Given the description of an element on the screen output the (x, y) to click on. 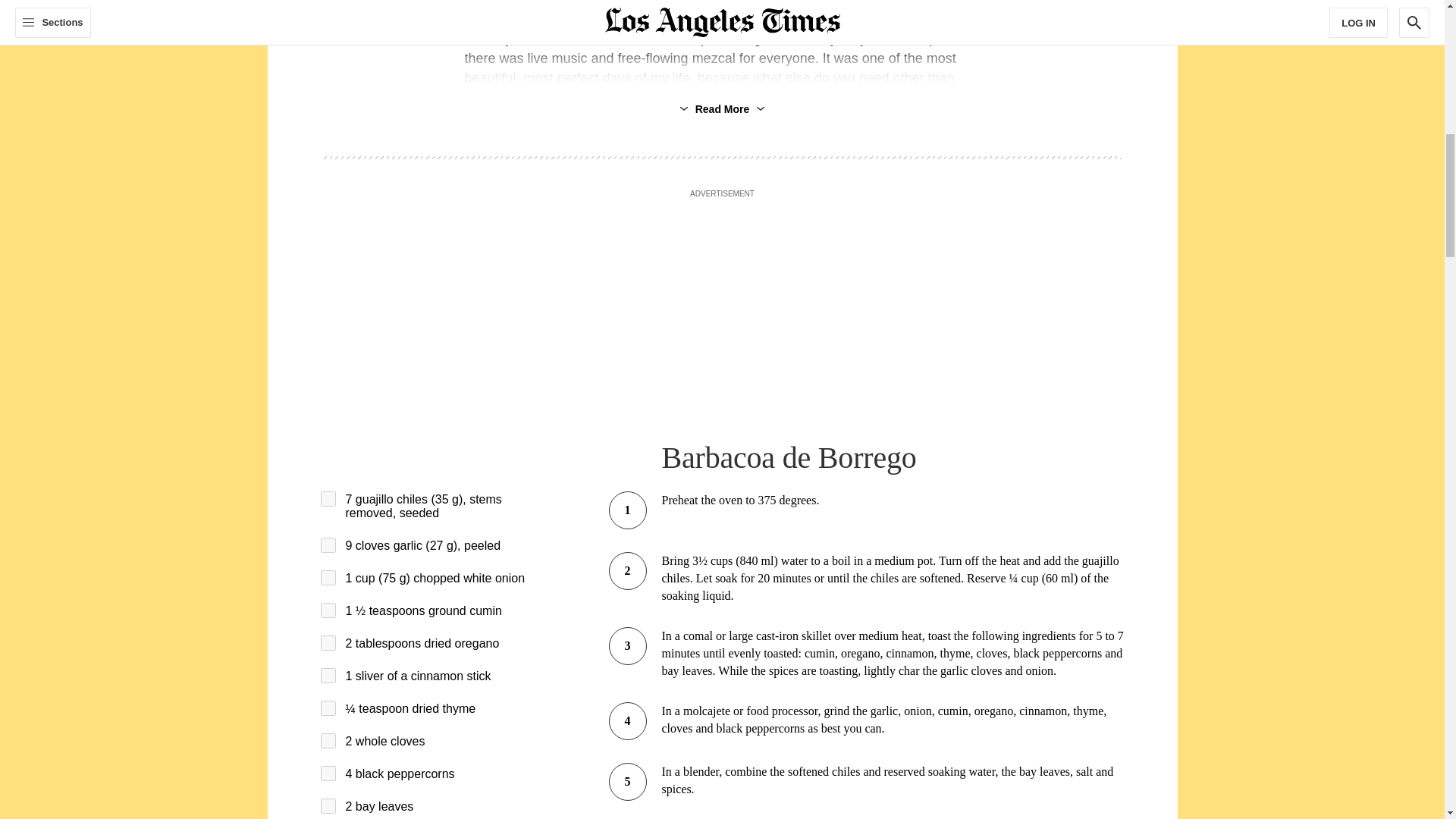
on (327, 806)
on (327, 773)
on (327, 610)
on (327, 498)
on (327, 577)
on (327, 675)
on (327, 544)
on (327, 740)
on (327, 708)
on (327, 642)
